Given the description of an element on the screen output the (x, y) to click on. 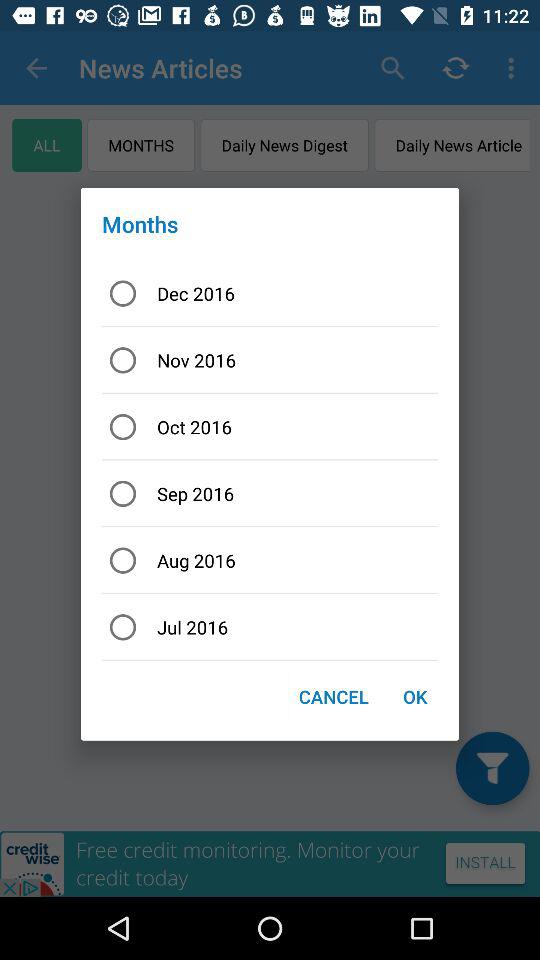
jump until the ok (414, 696)
